Given the description of an element on the screen output the (x, y) to click on. 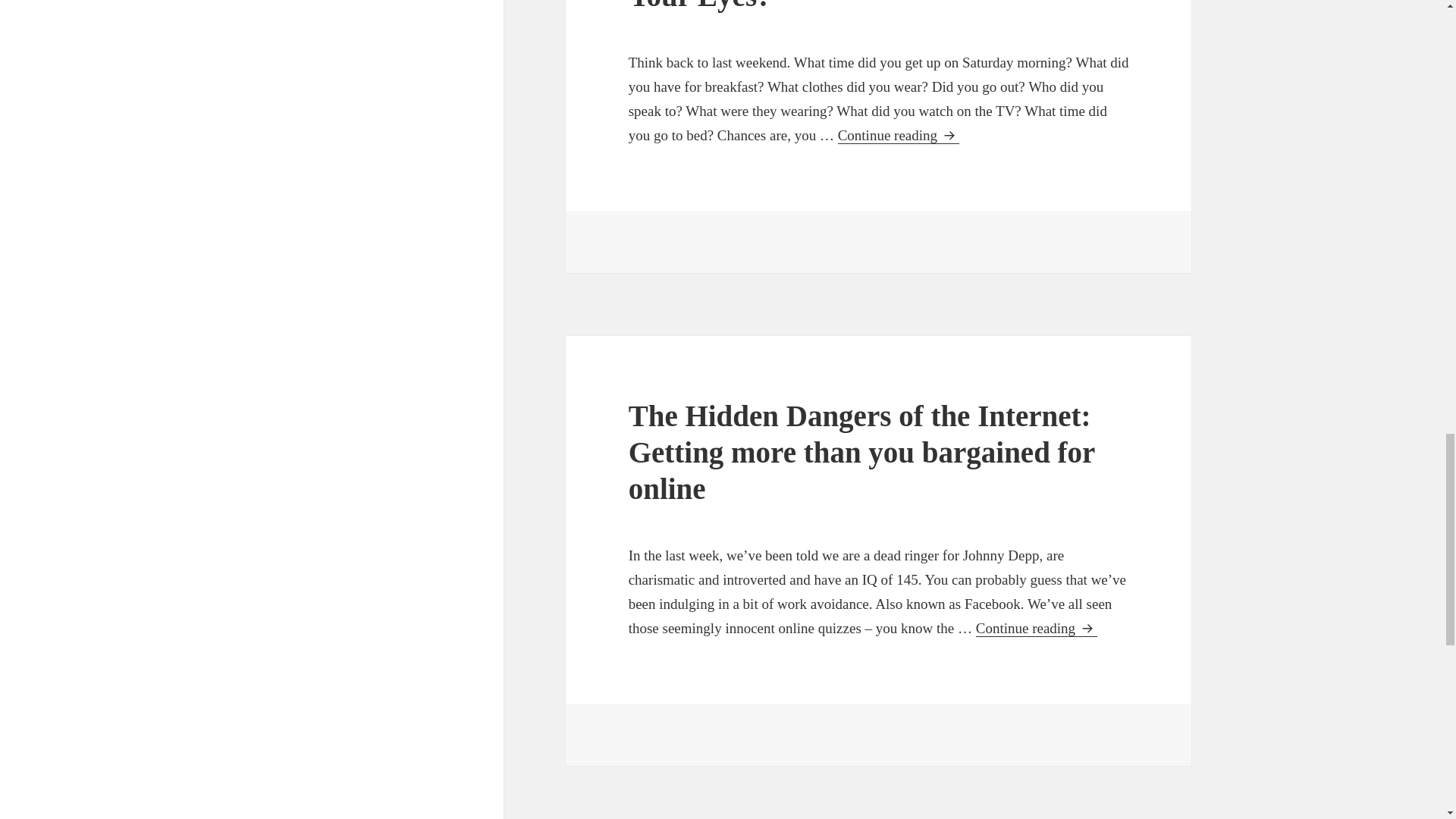
Seeing is Believing: Can Your Believe Your Eyes? (862, 6)
